Given the description of an element on the screen output the (x, y) to click on. 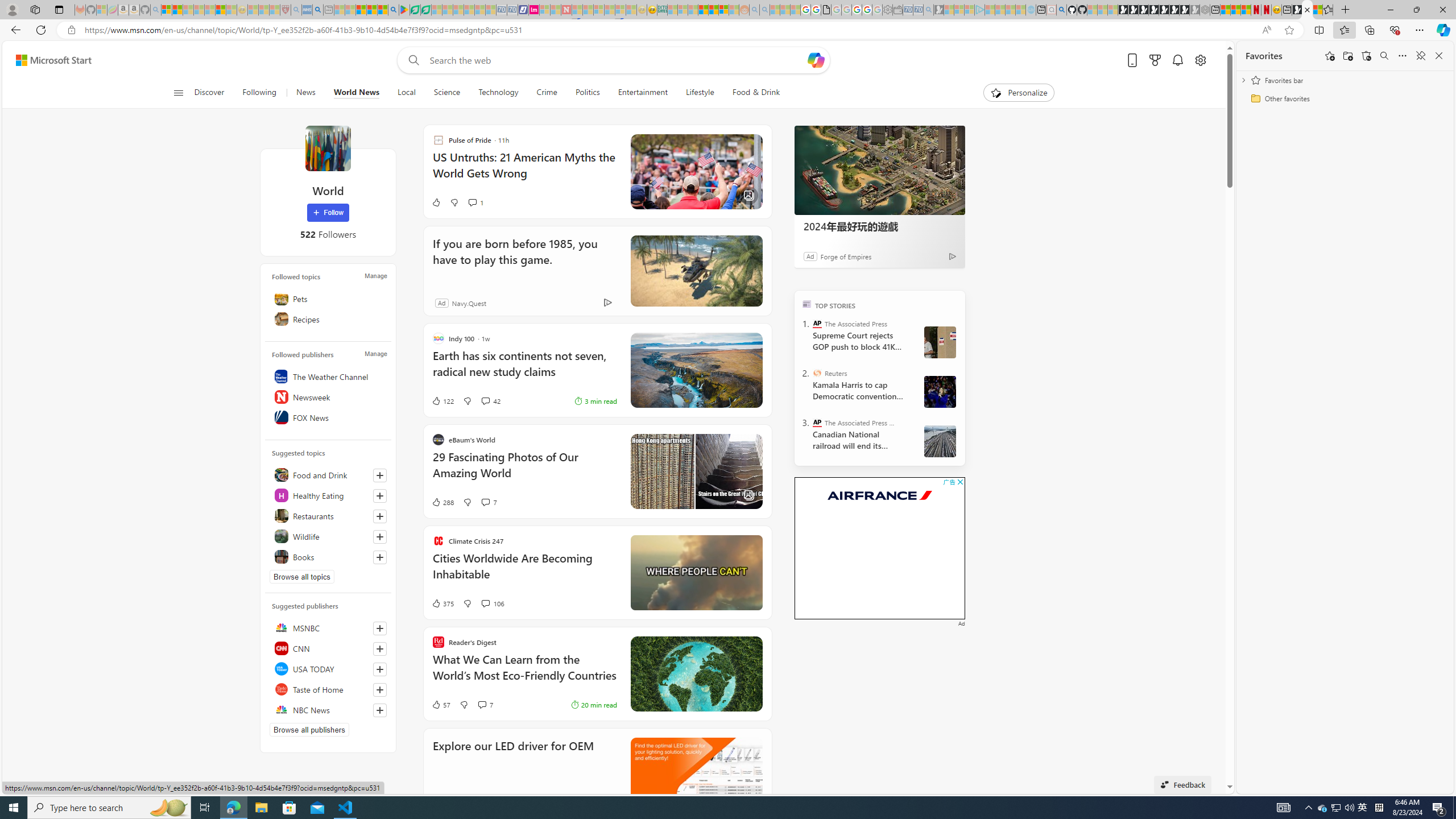
Technology (497, 92)
Expert Portfolios (703, 9)
Open settings (1199, 60)
Class: hero-image (696, 572)
Politics (587, 92)
Restaurants (327, 515)
